Given the description of an element on the screen output the (x, y) to click on. 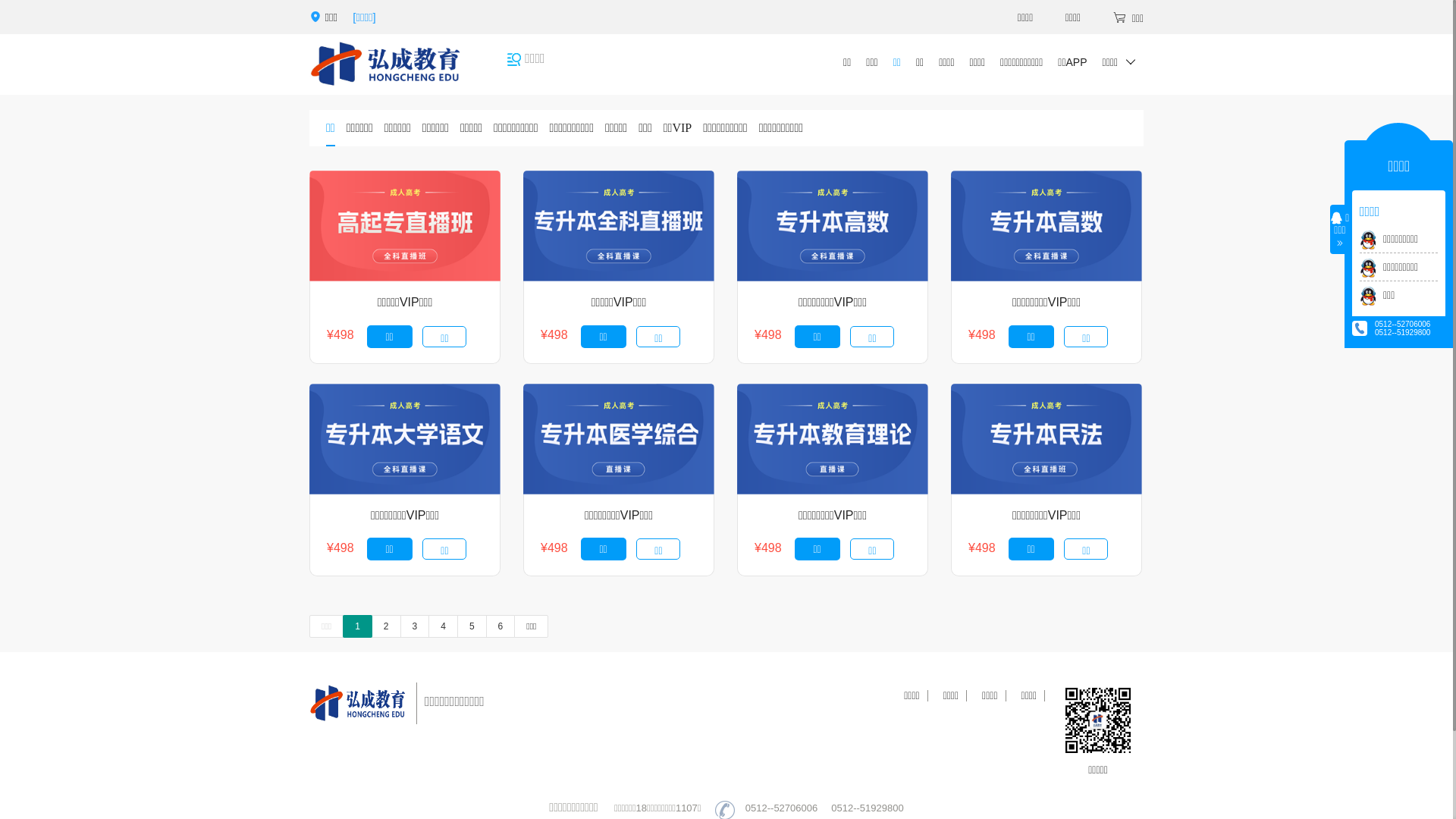
3 Element type: text (414, 626)
6 Element type: text (500, 626)
5 Element type: text (471, 626)
2 Element type: text (386, 626)
4 Element type: text (443, 626)
